Given the description of an element on the screen output the (x, y) to click on. 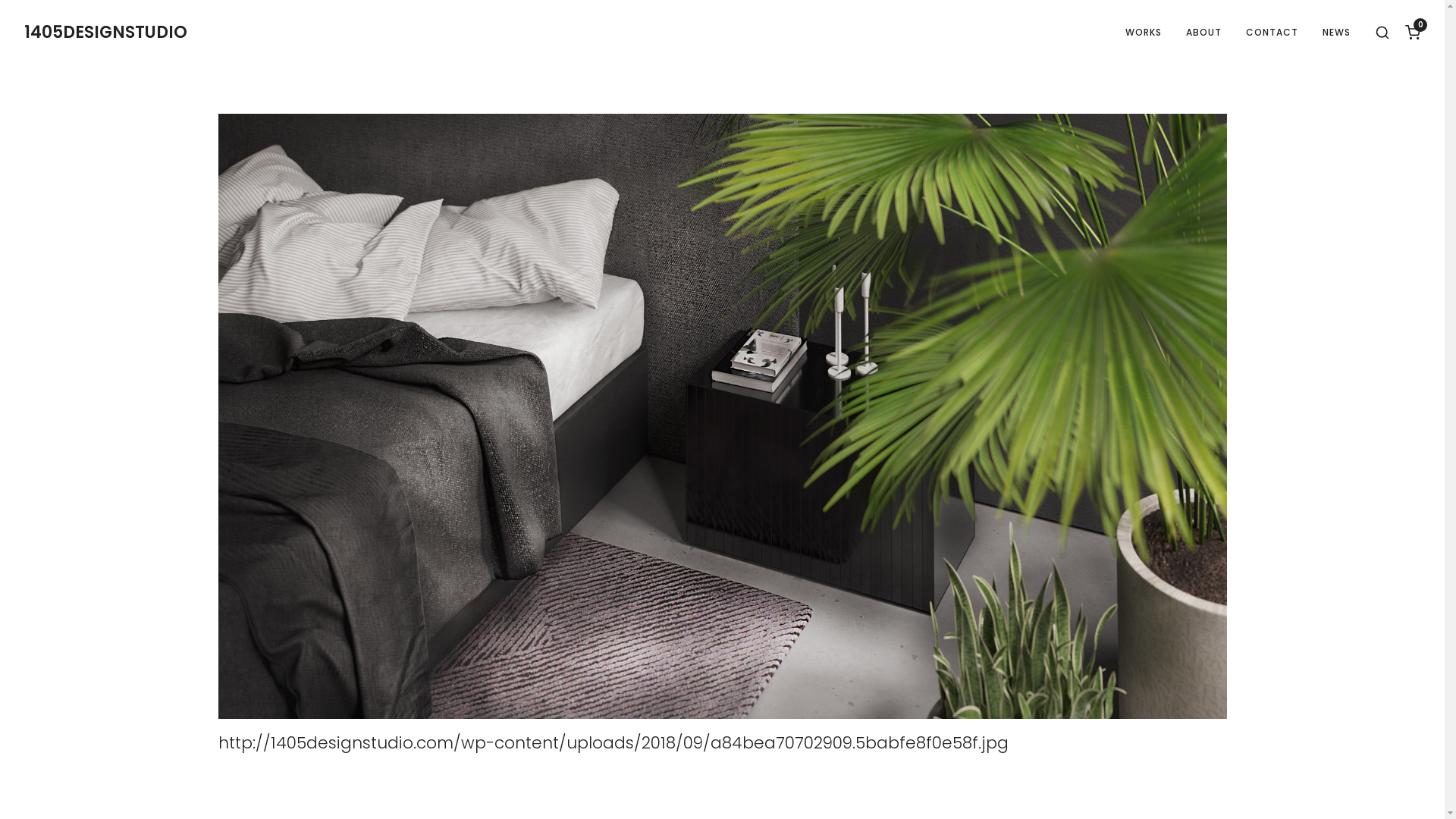
CONTACT Element type: text (1271, 32)
WORKS Element type: text (1143, 32)
NEWS Element type: text (1336, 32)
1405DESIGNSTUDIO Element type: text (105, 32)
0 Element type: text (1412, 32)
ABOUT Element type: text (1203, 32)
